Given the description of an element on the screen output the (x, y) to click on. 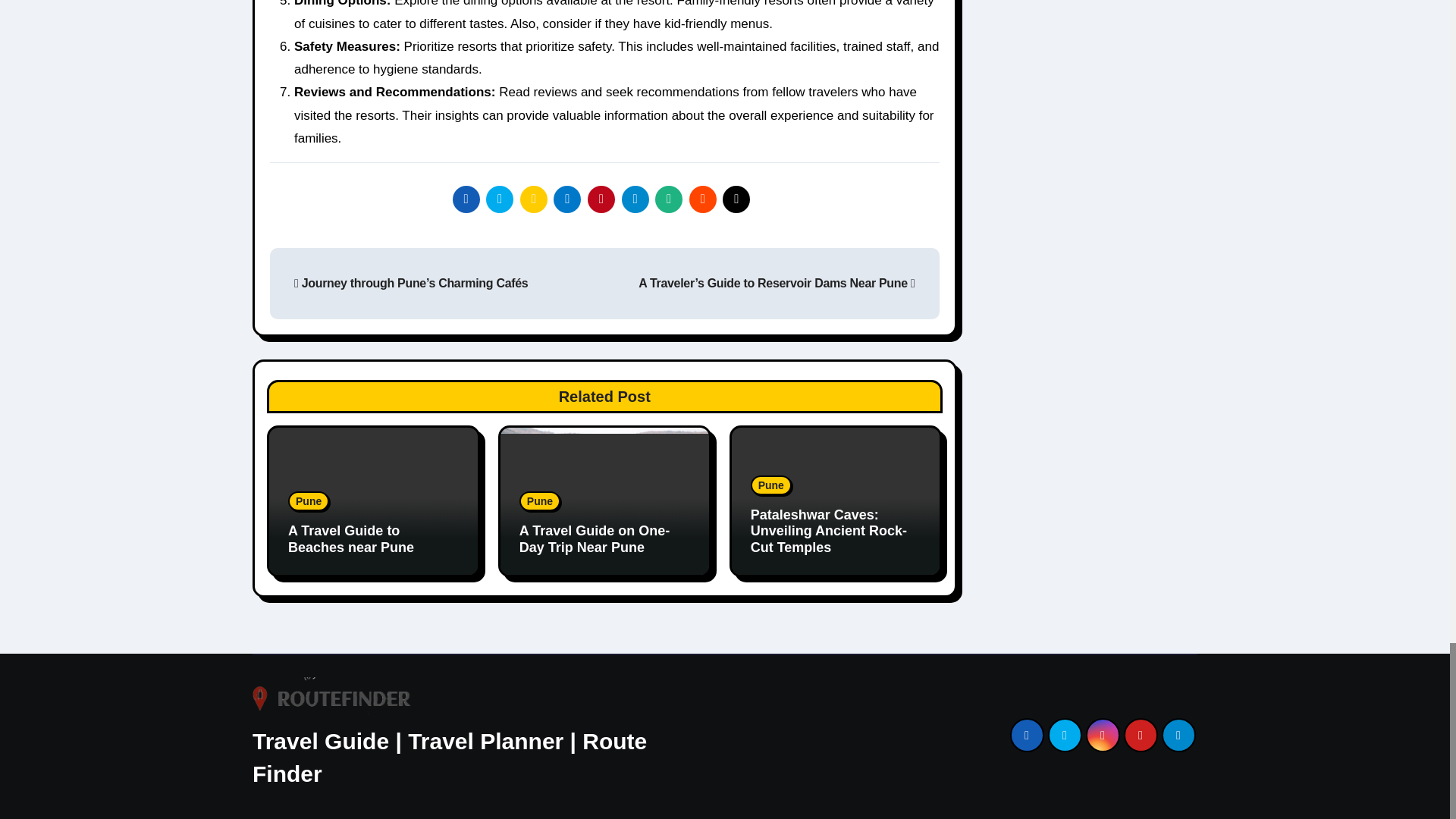
Permalink to: A Travel Guide to Beaches near Pune (350, 539)
Pune (308, 501)
A Travel Guide on One-Day Trip Near Pune (594, 539)
A Travel Guide to Beaches near Pune (350, 539)
Pataleshwar Caves: Unveiling Ancient Rock-Cut Temples (829, 530)
Pune (771, 485)
Pune (539, 501)
Permalink to: A Travel Guide on One-Day Trip Near Pune (594, 539)
